Given the description of an element on the screen output the (x, y) to click on. 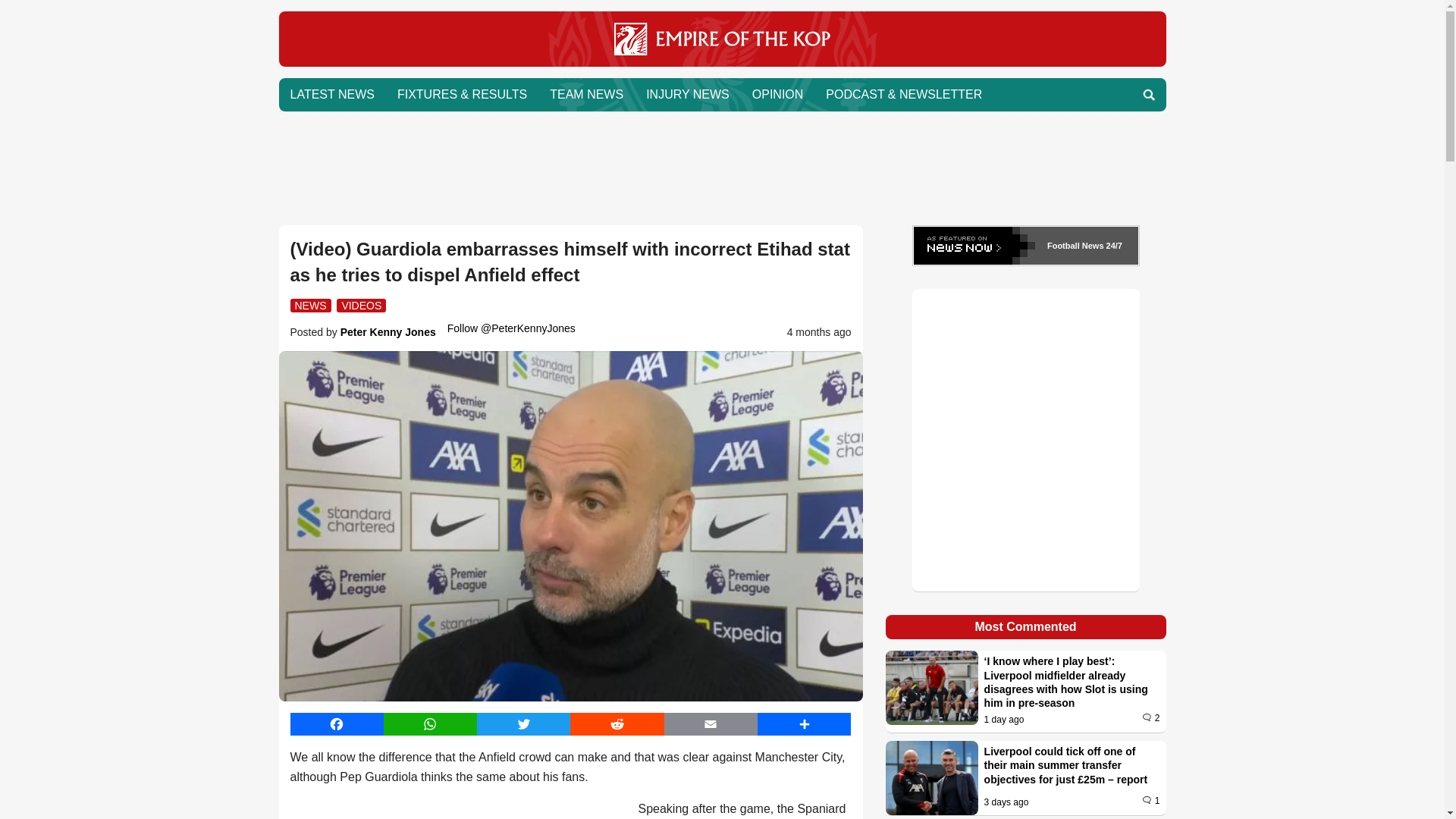
VIDEOS (360, 305)
Liverpool Opinion Pieces (778, 94)
Share (803, 723)
Twitter (523, 723)
Liverpool Injury News (687, 94)
Reddit (616, 723)
WhatsApp (430, 723)
NEWS (309, 305)
TEAM NEWS (586, 94)
LATEST NEWS (332, 94)
Liverpool News (721, 62)
OPINION (778, 94)
Email (710, 723)
Search (1147, 94)
Facebook (335, 723)
